Given the description of an element on the screen output the (x, y) to click on. 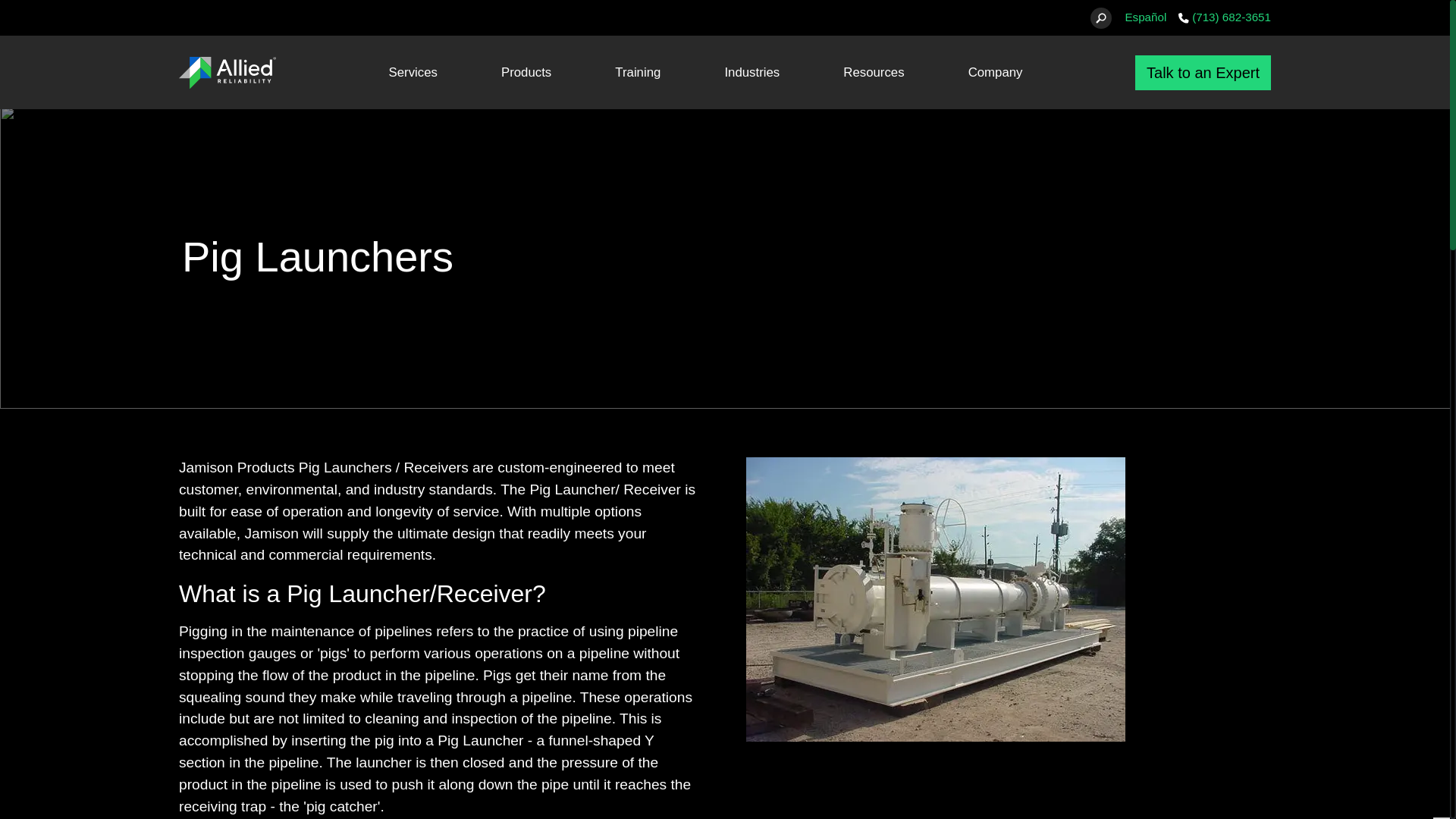
Services (413, 72)
Products (526, 72)
